Given the description of an element on the screen output the (x, y) to click on. 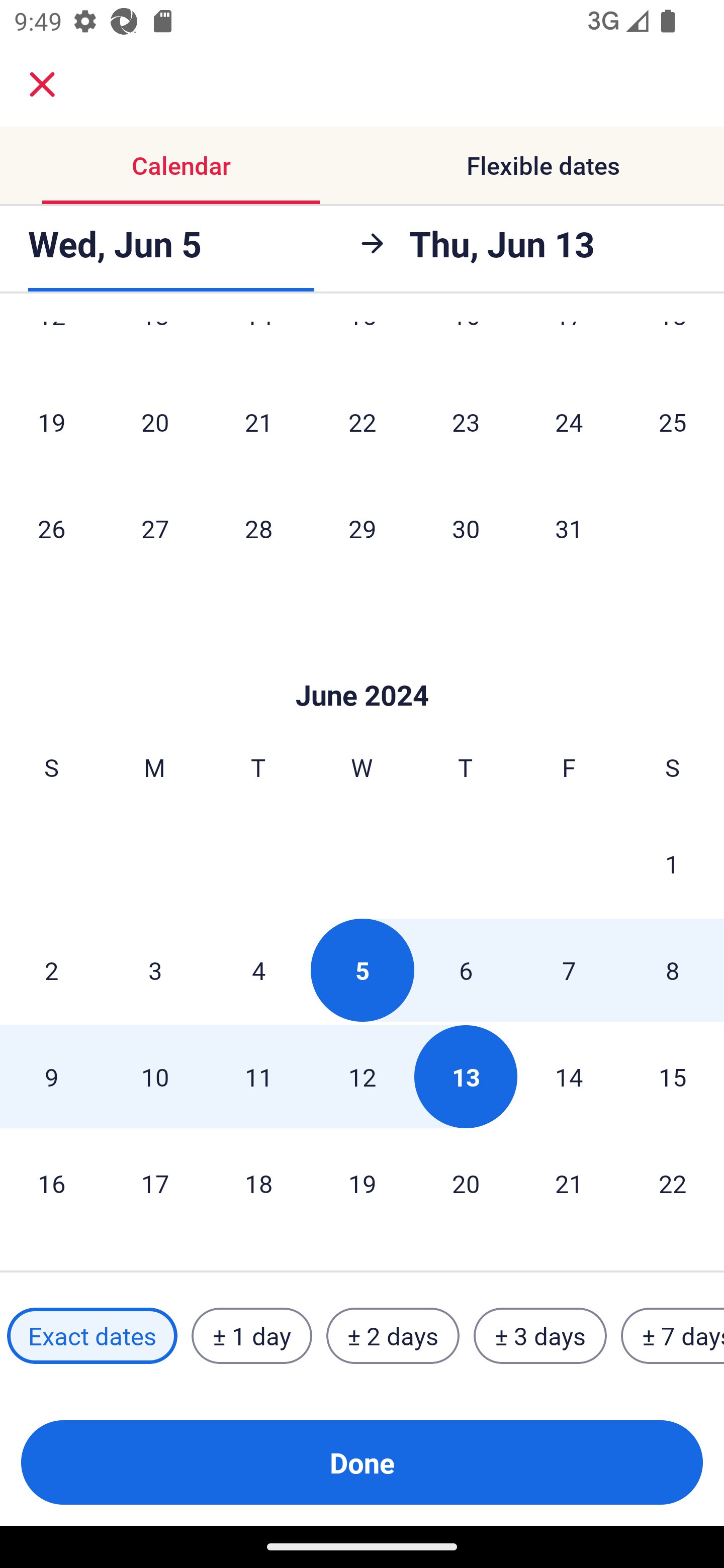
close. (42, 84)
Flexible dates (542, 164)
19 Sunday, May 19, 2024 (51, 421)
20 Monday, May 20, 2024 (155, 421)
21 Tuesday, May 21, 2024 (258, 421)
22 Wednesday, May 22, 2024 (362, 421)
23 Thursday, May 23, 2024 (465, 421)
24 Friday, May 24, 2024 (569, 421)
25 Saturday, May 25, 2024 (672, 421)
26 Sunday, May 26, 2024 (51, 528)
27 Monday, May 27, 2024 (155, 528)
28 Tuesday, May 28, 2024 (258, 528)
29 Wednesday, May 29, 2024 (362, 528)
30 Thursday, May 30, 2024 (465, 528)
31 Friday, May 31, 2024 (569, 528)
Skip to Done (362, 664)
1 Saturday, June 1, 2024 (672, 863)
2 Sunday, June 2, 2024 (51, 970)
3 Monday, June 3, 2024 (155, 970)
4 Tuesday, June 4, 2024 (258, 970)
14 Friday, June 14, 2024 (569, 1076)
15 Saturday, June 15, 2024 (672, 1076)
16 Sunday, June 16, 2024 (51, 1183)
17 Monday, June 17, 2024 (155, 1183)
18 Tuesday, June 18, 2024 (258, 1183)
19 Wednesday, June 19, 2024 (362, 1183)
20 Thursday, June 20, 2024 (465, 1183)
21 Friday, June 21, 2024 (569, 1183)
22 Saturday, June 22, 2024 (672, 1183)
Exact dates (92, 1335)
± 1 day (251, 1335)
± 2 days (392, 1335)
± 3 days (539, 1335)
± 7 days (672, 1335)
Done (361, 1462)
